Given the description of an element on the screen output the (x, y) to click on. 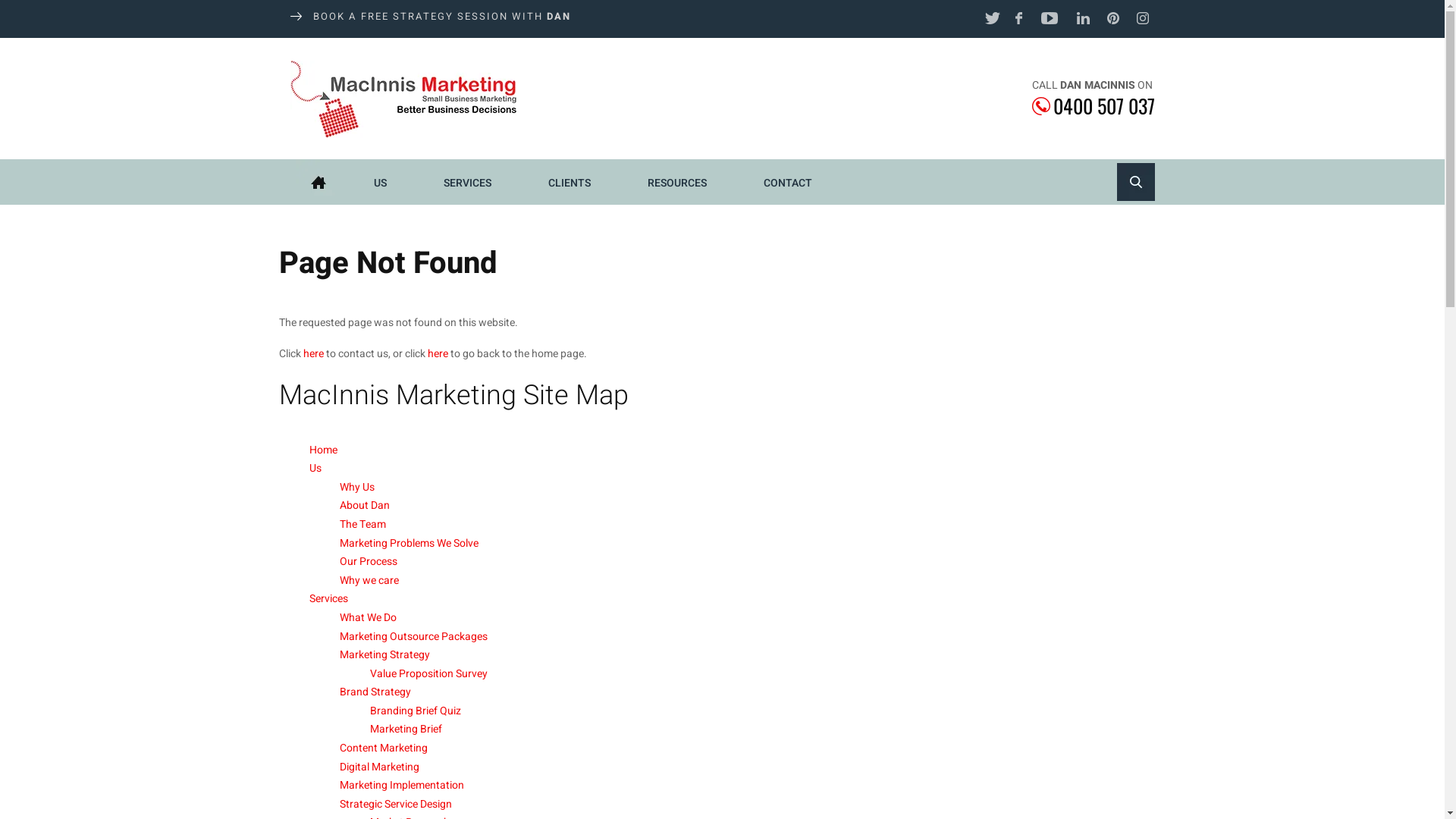
0400 507 037 Element type: text (1092, 105)
pinterest Element type: text (1112, 19)
twitter Element type: text (990, 19)
About Dan Element type: text (364, 505)
CONTACT Element type: text (787, 181)
linkedin Element type: text (1081, 19)
HOME Element type: text (317, 181)
Marketing Outsource Packages Element type: text (413, 636)
instagram Element type: text (1142, 19)
The Team Element type: text (362, 524)
CLIENTS Element type: text (569, 181)
Us Element type: text (315, 468)
BOOK A FREE STRATEGY SESSION WITH DAN Element type: text (429, 16)
Brand Strategy Element type: text (375, 691)
Marketing Problems We Solve Element type: text (408, 543)
Digital Marketing Element type: text (379, 767)
Marketing Strategy Element type: text (384, 654)
facebook Element type: text (1021, 19)
US Element type: text (380, 181)
Strategic Service Design Element type: text (395, 804)
RESOURCES Element type: text (676, 181)
Home Element type: text (323, 450)
here Element type: text (437, 353)
Marketing Implementation Element type: text (401, 785)
Why Us Element type: text (356, 487)
Our Process Element type: text (368, 561)
youtube Element type: text (1051, 19)
Value Proposition Survey Element type: text (428, 673)
Why we care Element type: text (368, 580)
here Element type: text (313, 353)
Services Element type: text (328, 598)
SERVICES Element type: text (467, 181)
Content Marketing Element type: text (383, 748)
What We Do Element type: text (367, 617)
Branding Brief Quiz Element type: text (415, 710)
Marketing Brief Element type: text (406, 729)
